Given the description of an element on the screen output the (x, y) to click on. 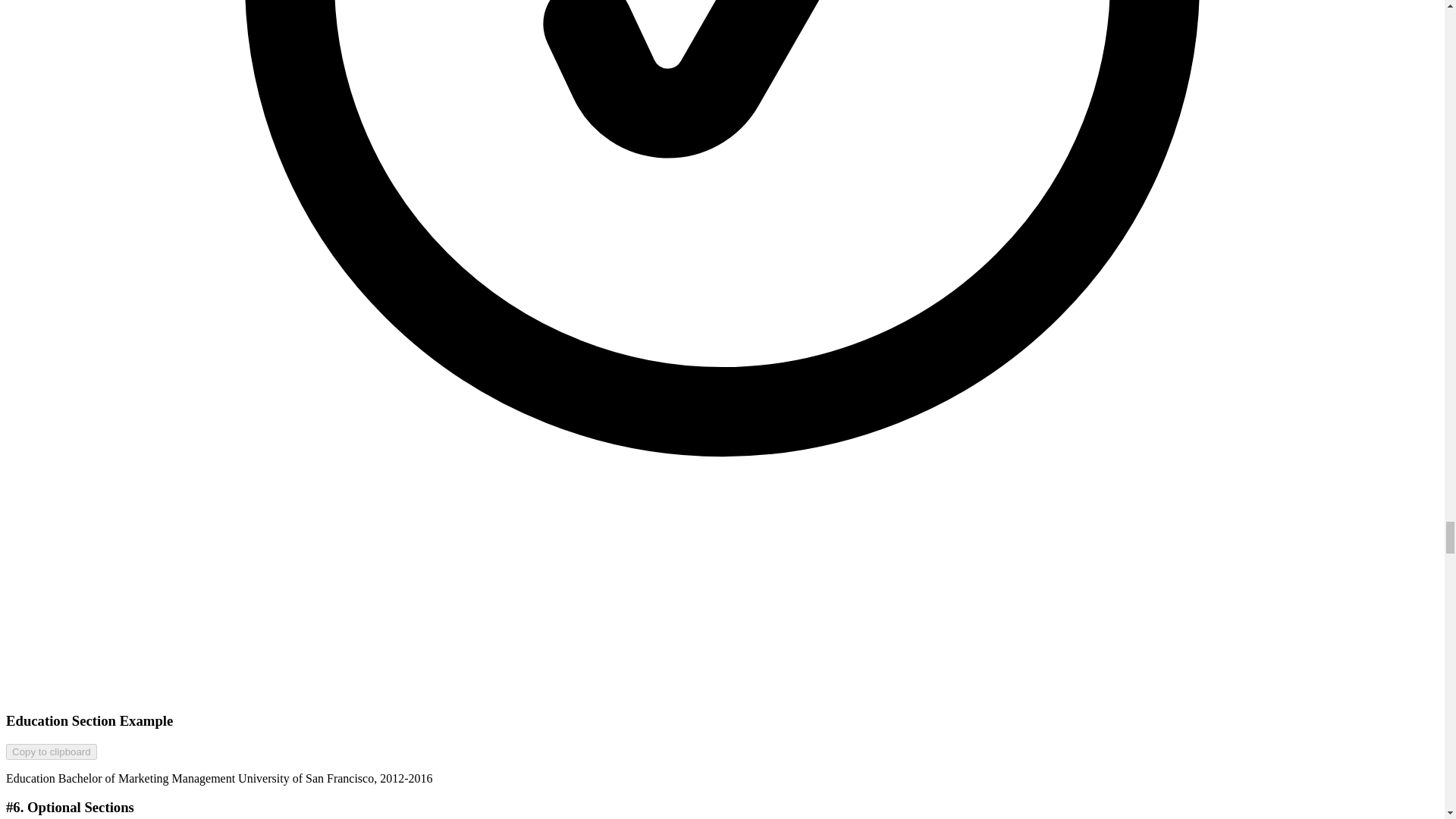
Copy to clipboard (51, 751)
